Given the description of an element on the screen output the (x, y) to click on. 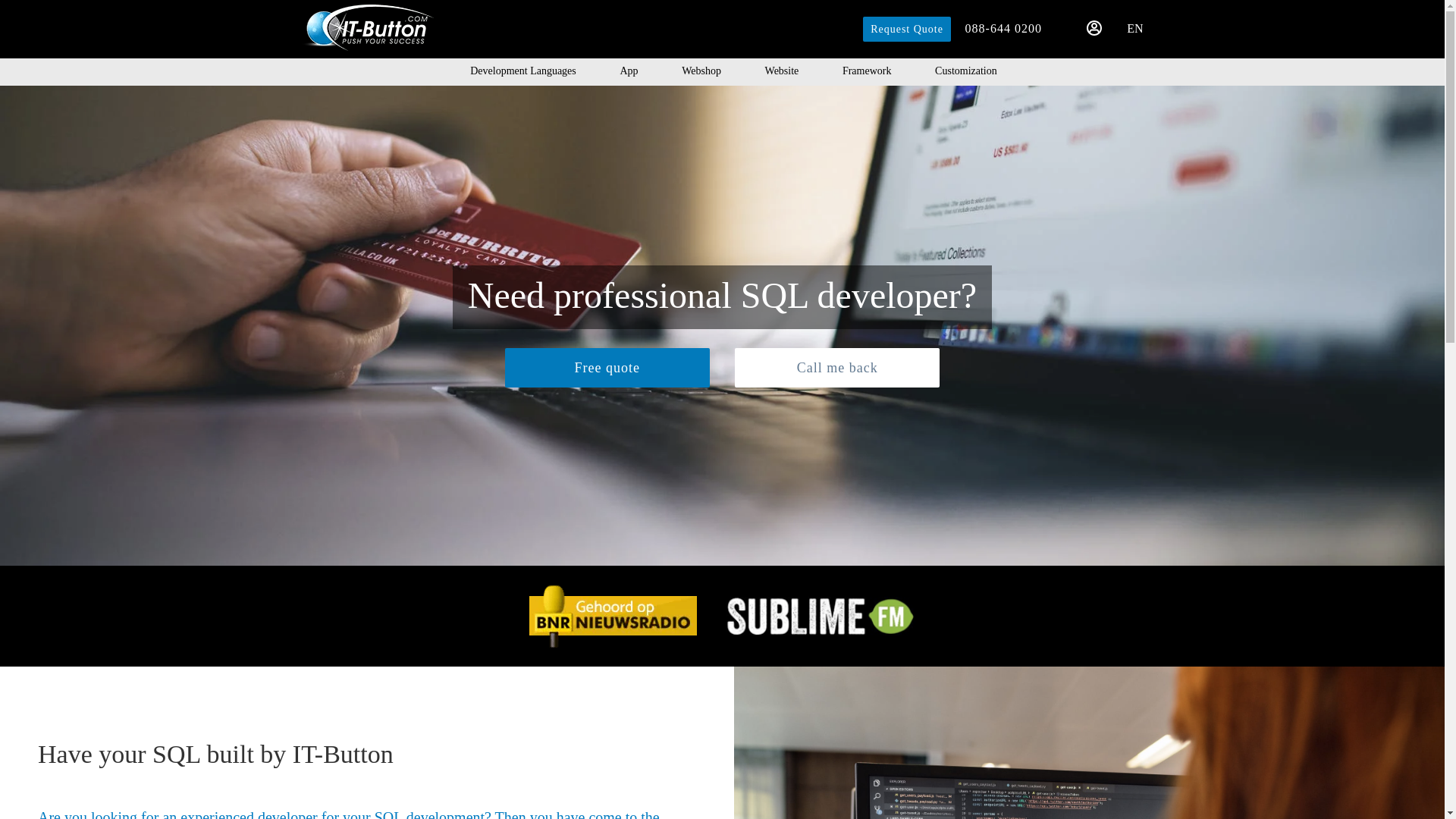
Development Languages (523, 71)
IT-Button (367, 27)
Request Quote (906, 28)
App (628, 71)
